Given the description of an element on the screen output the (x, y) to click on. 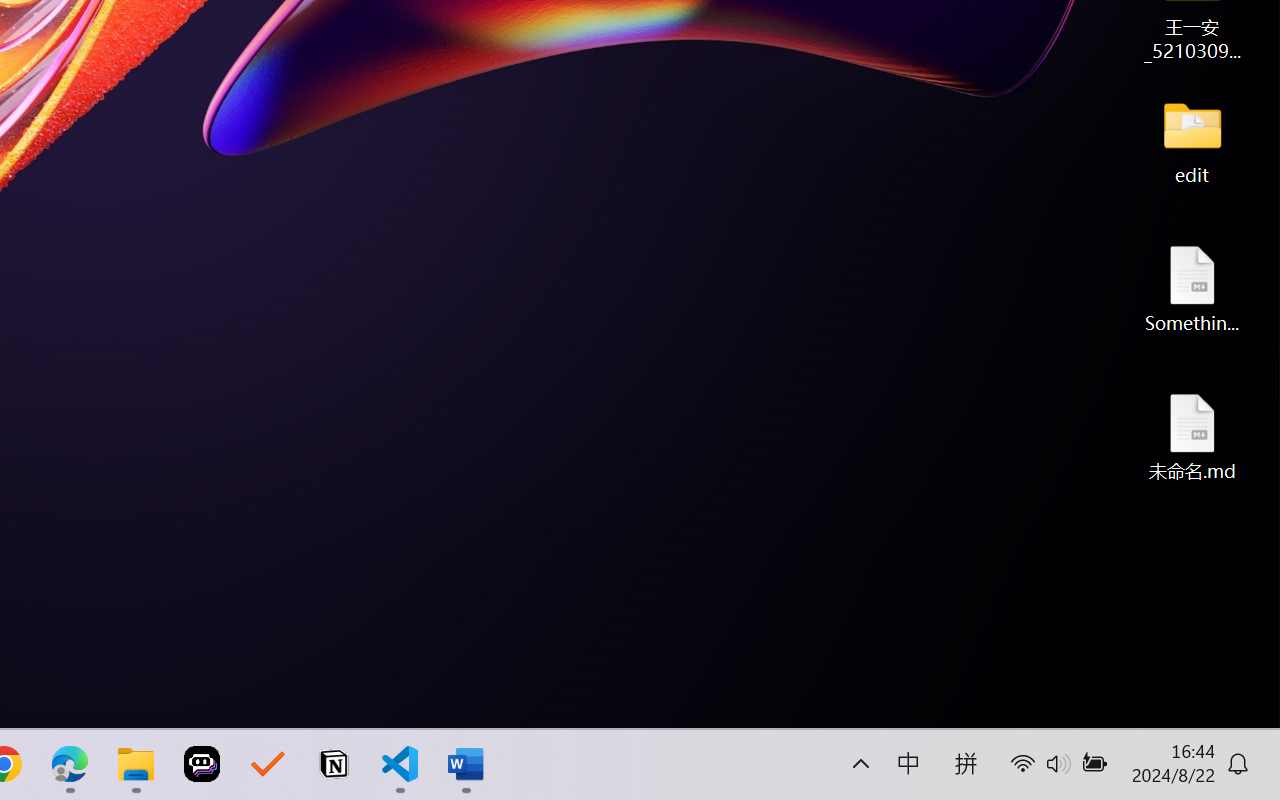
Something.md (1192, 288)
